Given the description of an element on the screen output the (x, y) to click on. 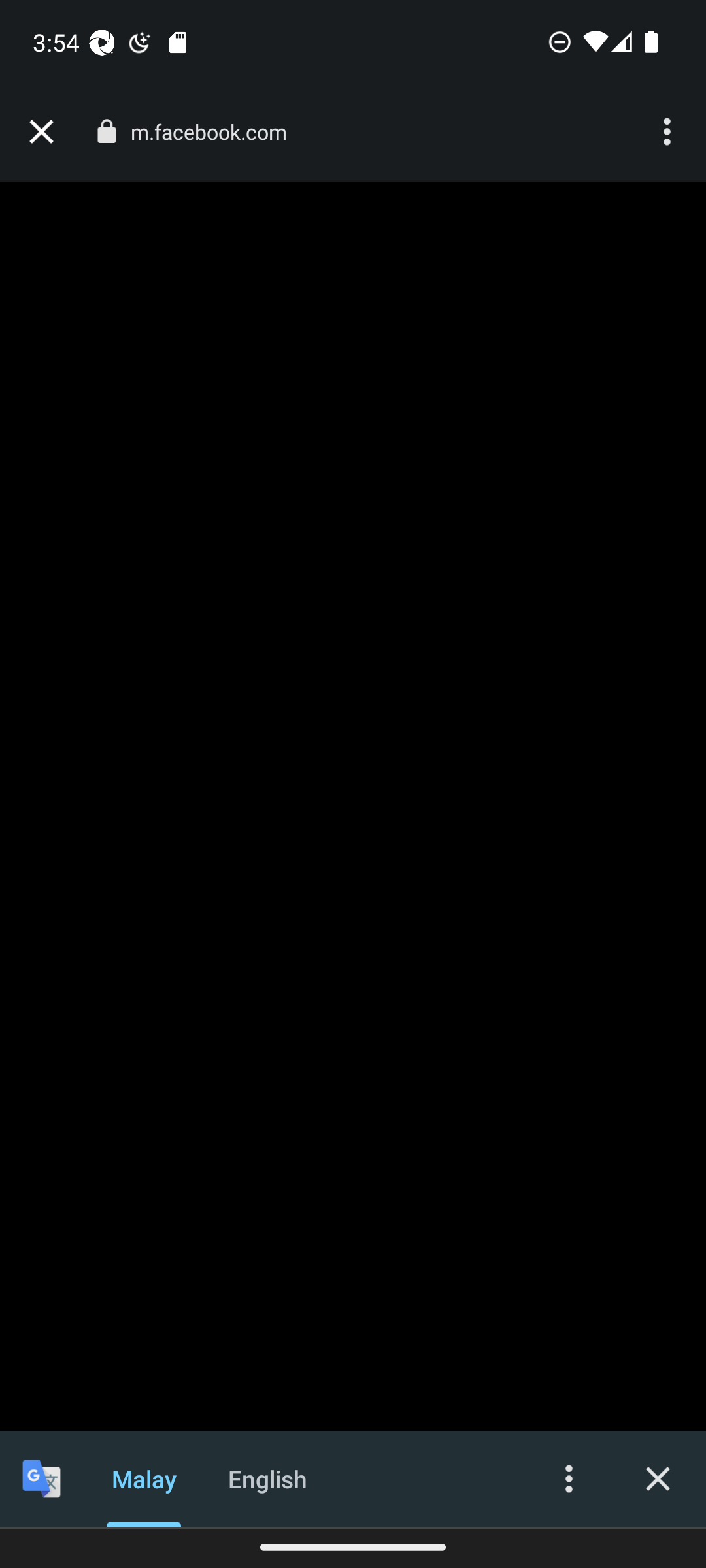
Close tab (41, 131)
More options (669, 131)
Connection is secure (106, 131)
m.facebook.com (215, 131)
English (267, 1478)
More options (568, 1478)
Close (657, 1478)
